Given the description of an element on the screen output the (x, y) to click on. 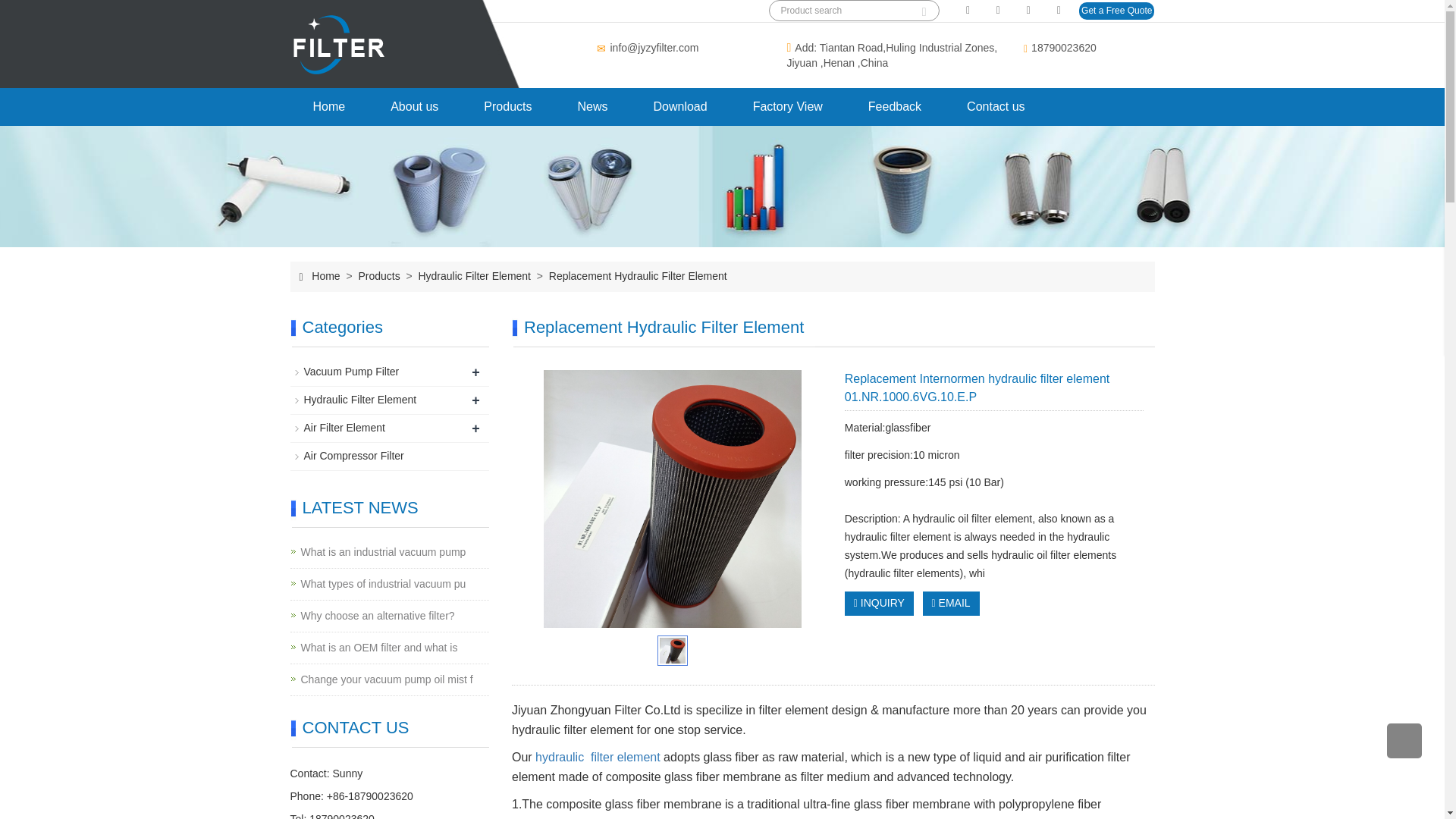
Feedback (894, 106)
What types of industrial vacuum pump filters are available? (382, 584)
Home (325, 275)
Hydraulic Filter Element (474, 275)
About us (414, 106)
Replacement Hydraulic Filter Element (636, 275)
What is an OEM filter and what is an alternative filter? (378, 647)
News (592, 106)
Download (680, 106)
Products (507, 106)
